Given the description of an element on the screen output the (x, y) to click on. 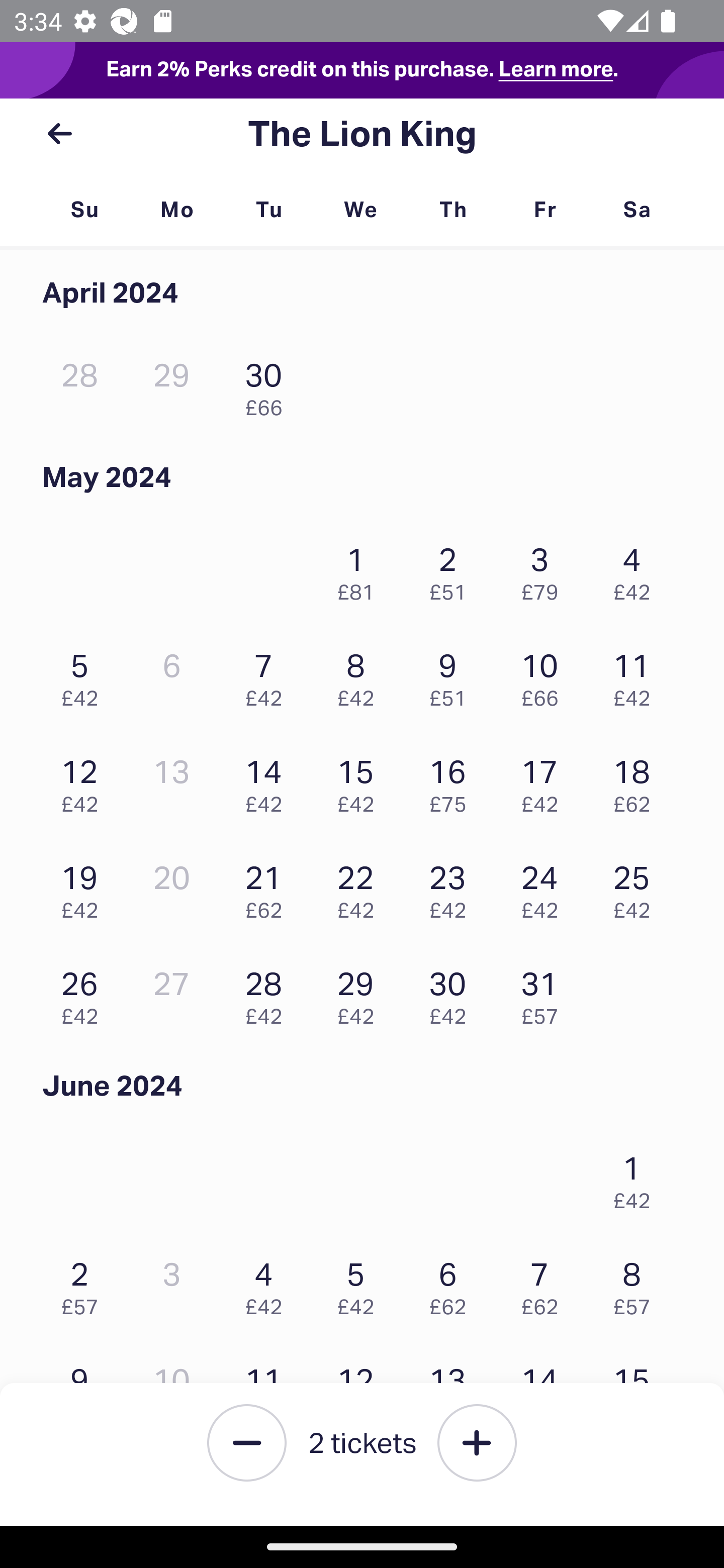
Earn 2% Perks credit on this purchase. Learn more. (362, 70)
back button (59, 133)
30 £66 (268, 384)
1 £81 (360, 569)
2 £51 (452, 569)
3 £79 (544, 569)
4 £42 (636, 569)
5 £42 (84, 674)
7 £42 (268, 674)
8 £42 (360, 674)
9 £51 (452, 674)
10 £66 (544, 674)
11 £42 (636, 674)
12 £42 (84, 781)
14 £42 (268, 781)
15 £42 (360, 781)
16 £75 (452, 781)
17 £42 (544, 781)
18 £62 (636, 781)
19 £42 (84, 886)
21 £62 (268, 886)
22 £42 (360, 886)
23 £42 (452, 886)
24 £42 (544, 886)
25 £42 (636, 886)
26 £42 (84, 992)
28 £42 (268, 992)
29 £42 (360, 992)
30 £42 (452, 992)
31 £57 (544, 992)
1 £42 (636, 1177)
2 £57 (84, 1283)
4 £42 (268, 1283)
5 £42 (360, 1283)
6 £62 (452, 1283)
7 £62 (544, 1283)
8 £57 (636, 1283)
